Given the description of an element on the screen output the (x, y) to click on. 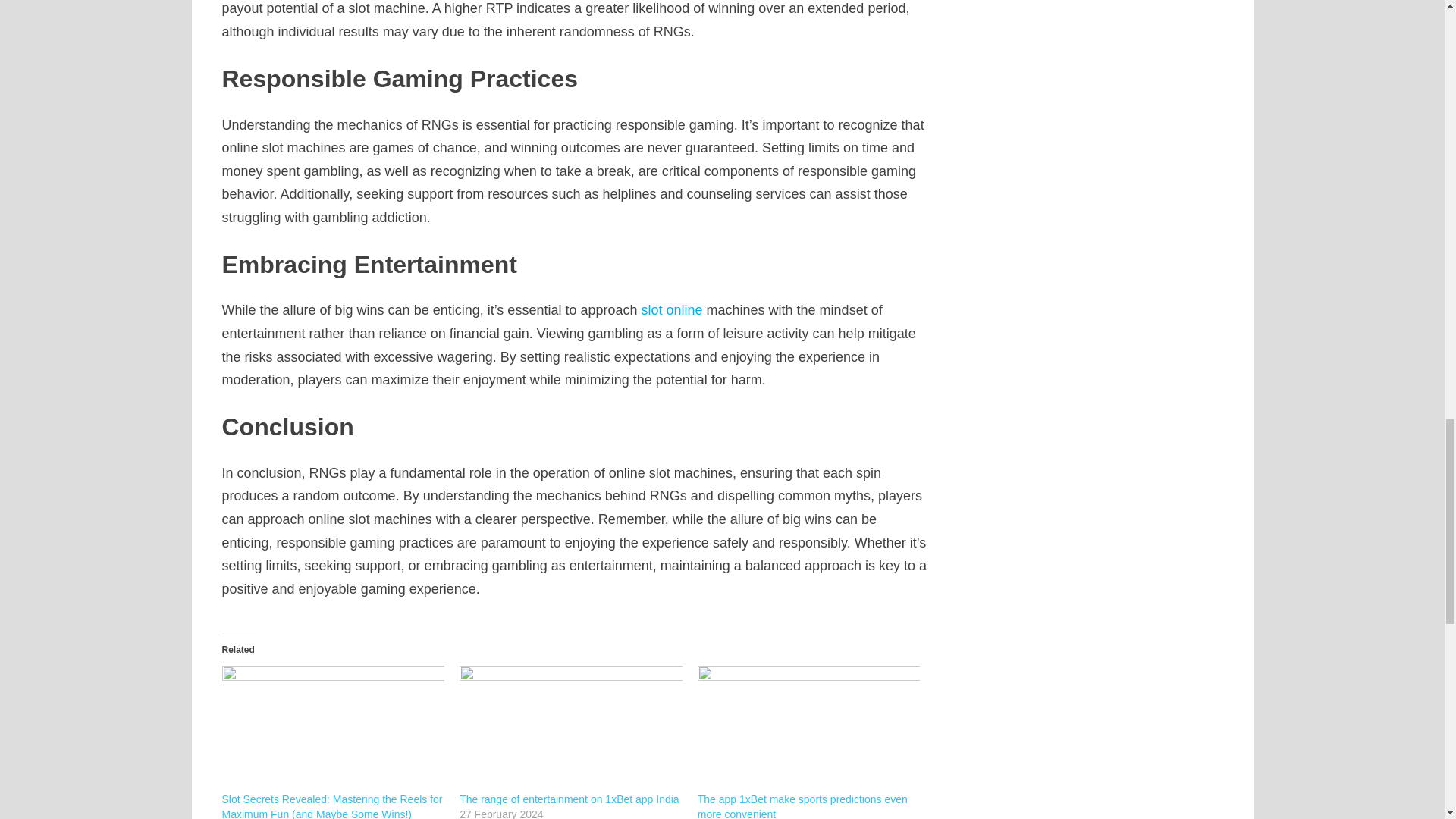
The app 1xBet make sports predictions even more convenient (802, 806)
The range of entertainment on 1xBet app India (569, 799)
The app 1xBet make sports predictions even more convenient (808, 728)
The range of entertainment on 1xBet app India (571, 728)
slot online (670, 309)
